Given the description of an element on the screen output the (x, y) to click on. 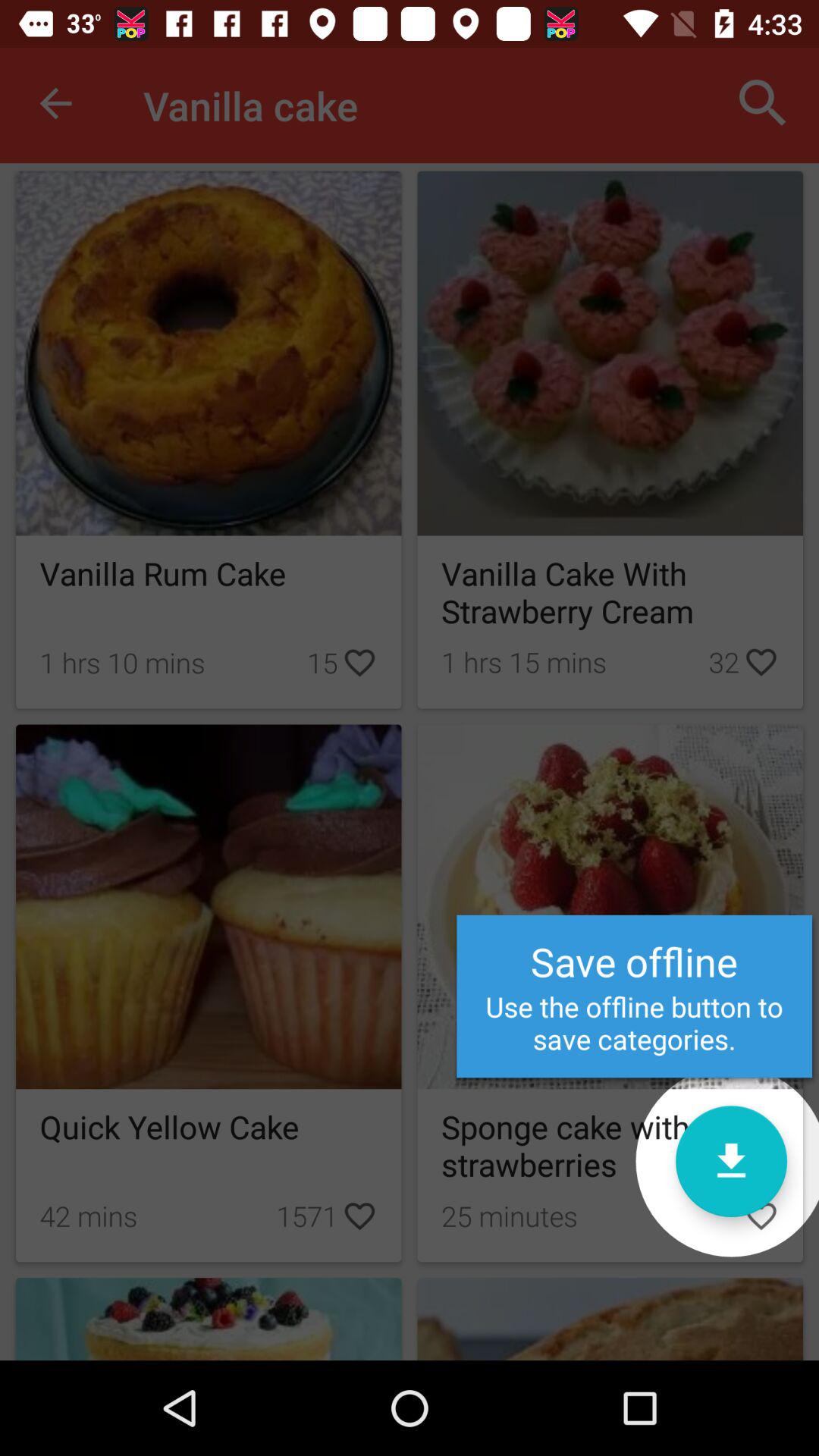
click the item next to the vanilla cake icon (763, 103)
